Given the description of an element on the screen output the (x, y) to click on. 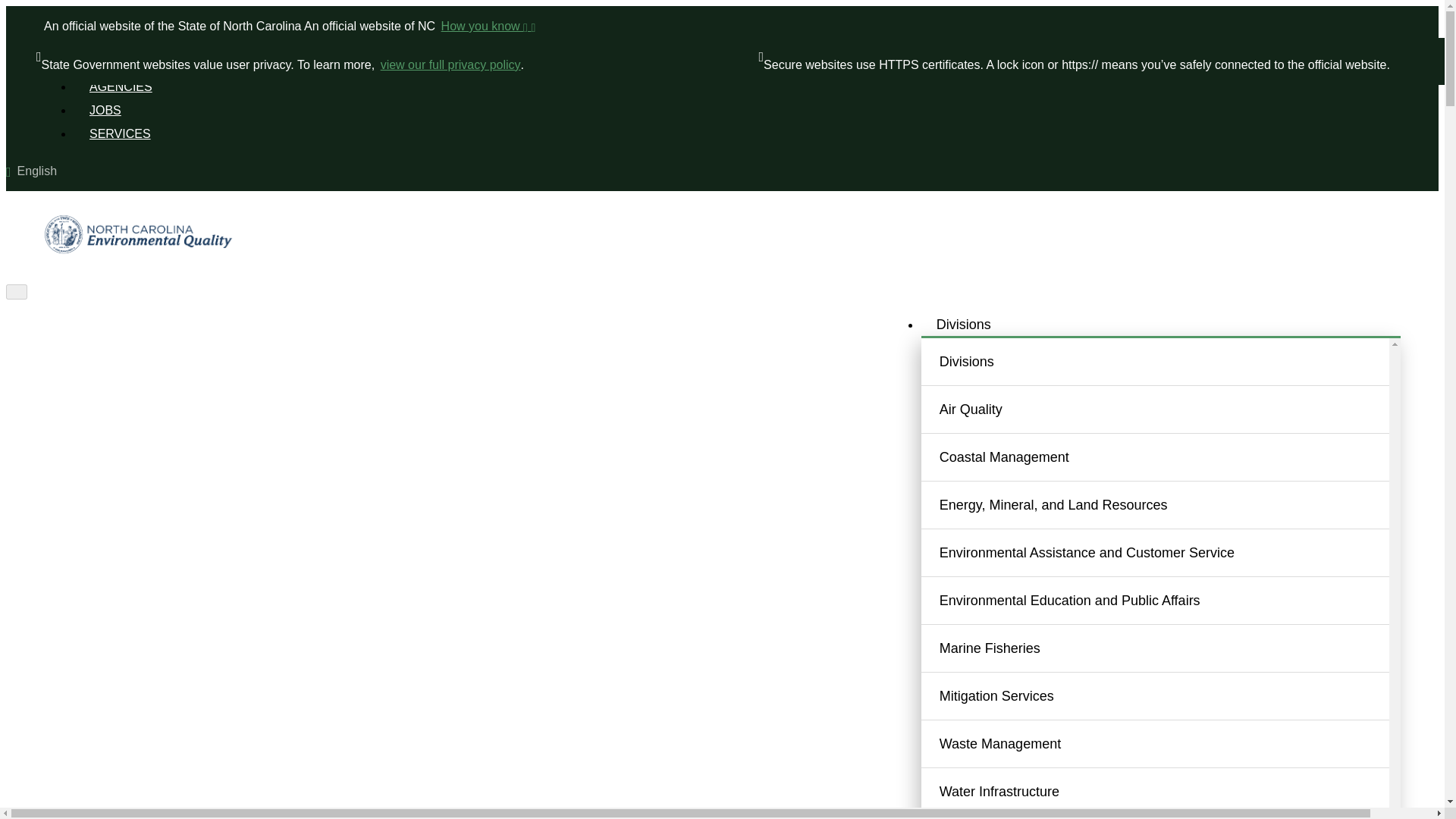
Skip to main content (722, 7)
Water Infrastructure (1173, 791)
JOBS (105, 110)
Marine Fisheries (1173, 647)
Environmental Education and Public Affairs (1173, 600)
Waste Management (1173, 743)
SERVICES (119, 133)
Home (122, 264)
Energy, Mineral, and Land Resources (1173, 504)
Environmental Assistance and Customer Service (1173, 552)
Air Quality (1173, 409)
Divisions (963, 324)
view our full privacy policy (449, 65)
AGENCIES (120, 86)
How you know (487, 26)
